Given the description of an element on the screen output the (x, y) to click on. 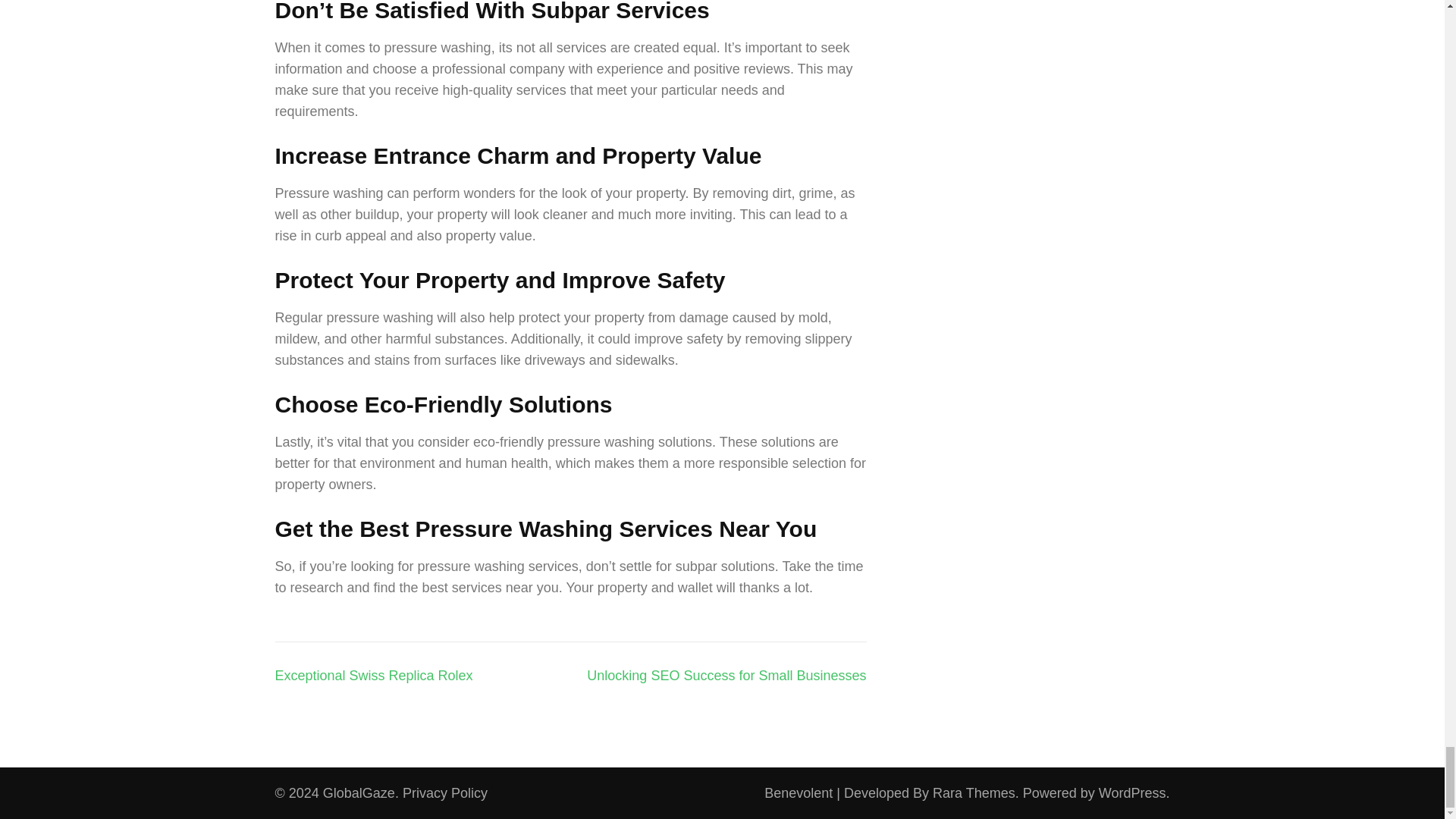
Exceptional Swiss Replica Rolex (373, 675)
Unlocking SEO Success for Small Businesses (726, 675)
